Given the description of an element on the screen output the (x, y) to click on. 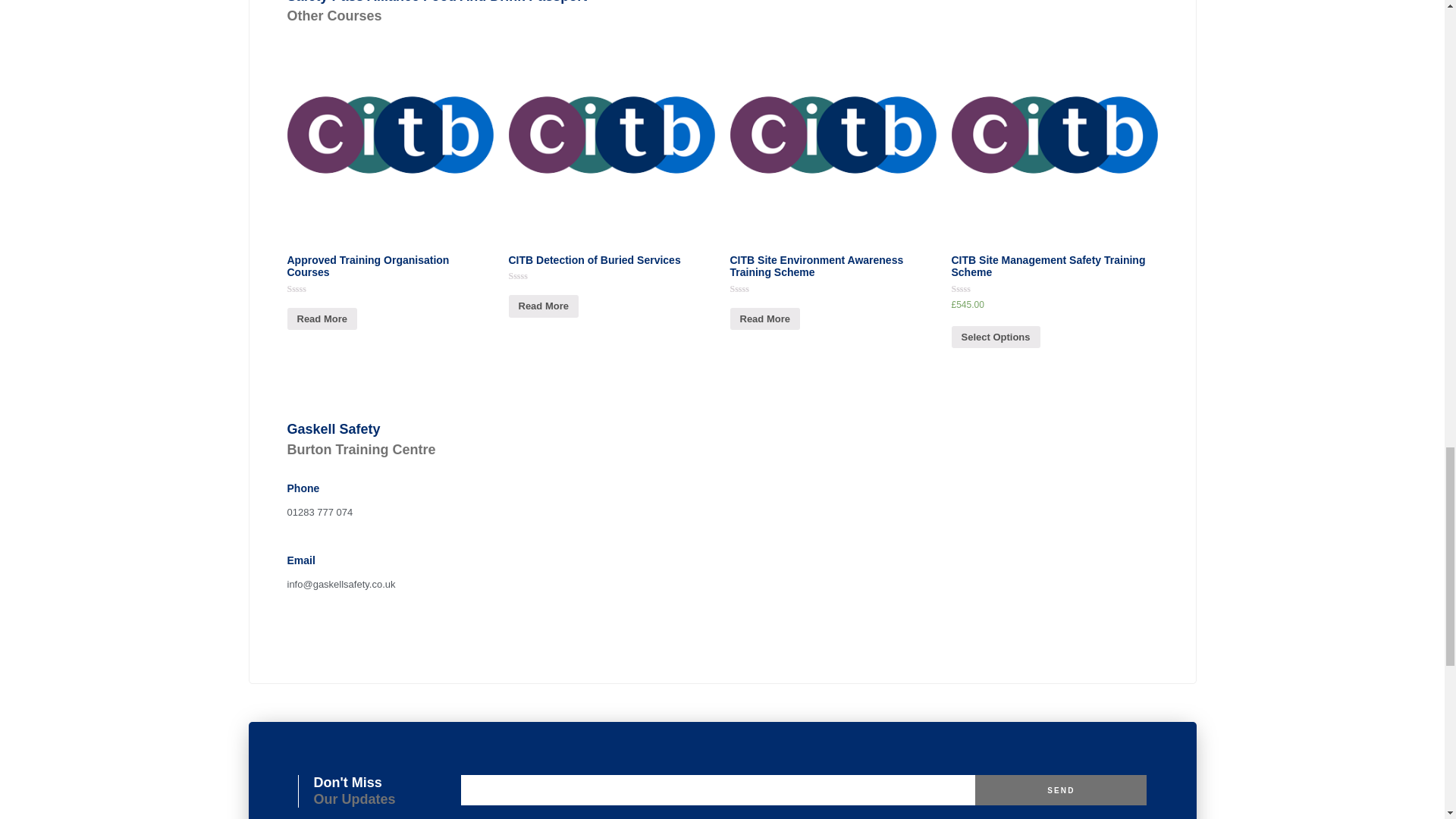
Select Options (994, 336)
Read More (543, 305)
Read More (764, 318)
Read More (321, 318)
SEND (1061, 789)
